Given the description of an element on the screen output the (x, y) to click on. 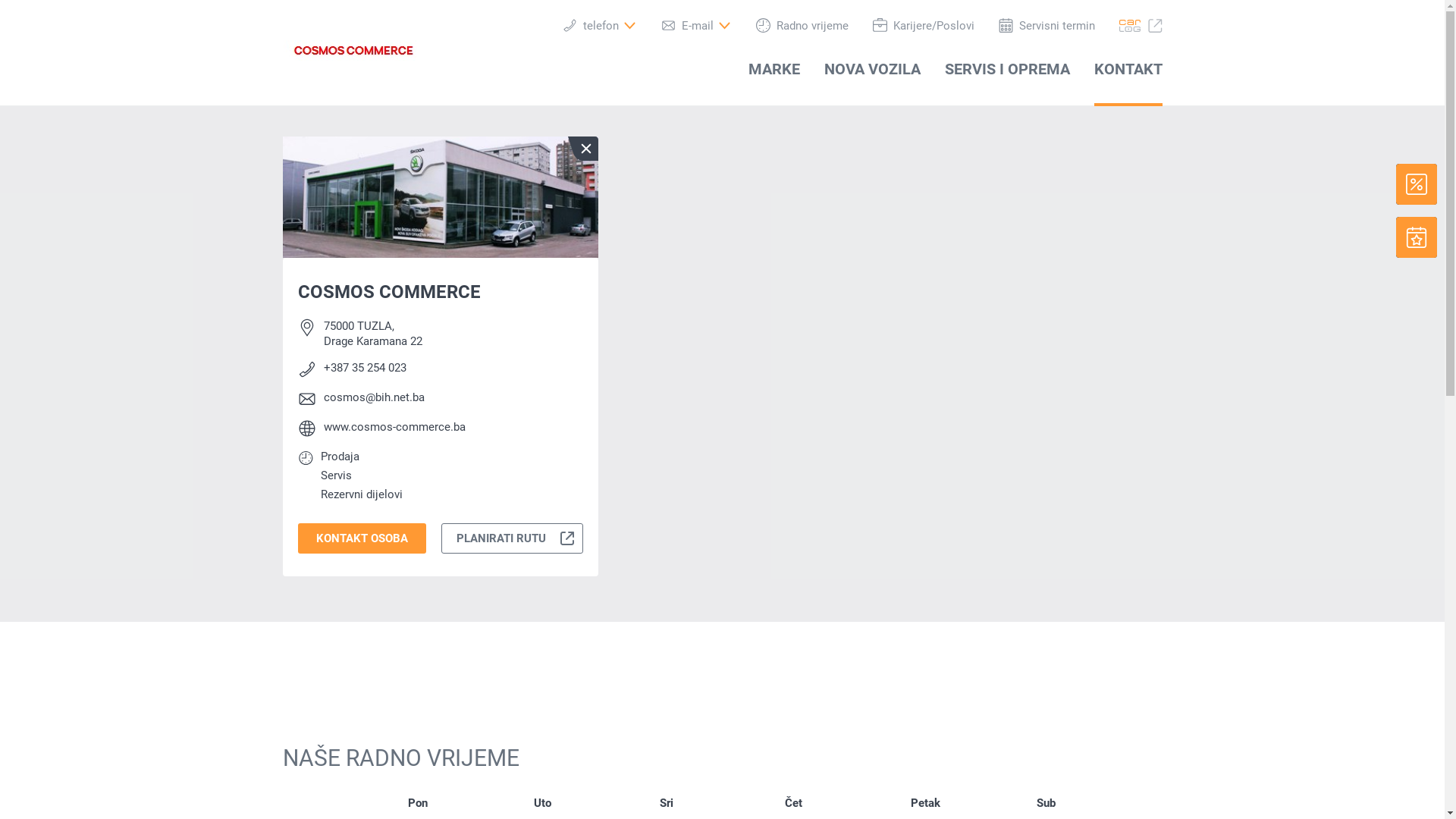
telefon Element type: text (599, 25)
+387 35 254 023 Element type: text (364, 367)
www.cosmos-commerce.ba Element type: text (393, 428)
E-mail Element type: text (696, 25)
Radno vrijeme Element type: text (801, 25)
Servisni termin Element type: text (1045, 25)
PLANIRATI RUTU Element type: text (511, 538)
Karijere/Poslovi Element type: text (922, 25)
cosmos@bih.net.ba Element type: text (373, 398)
COSMOS COMMERCE Element type: hover (352, 50)
KONTAKT OSOBA Element type: text (361, 538)
